Given the description of an element on the screen output the (x, y) to click on. 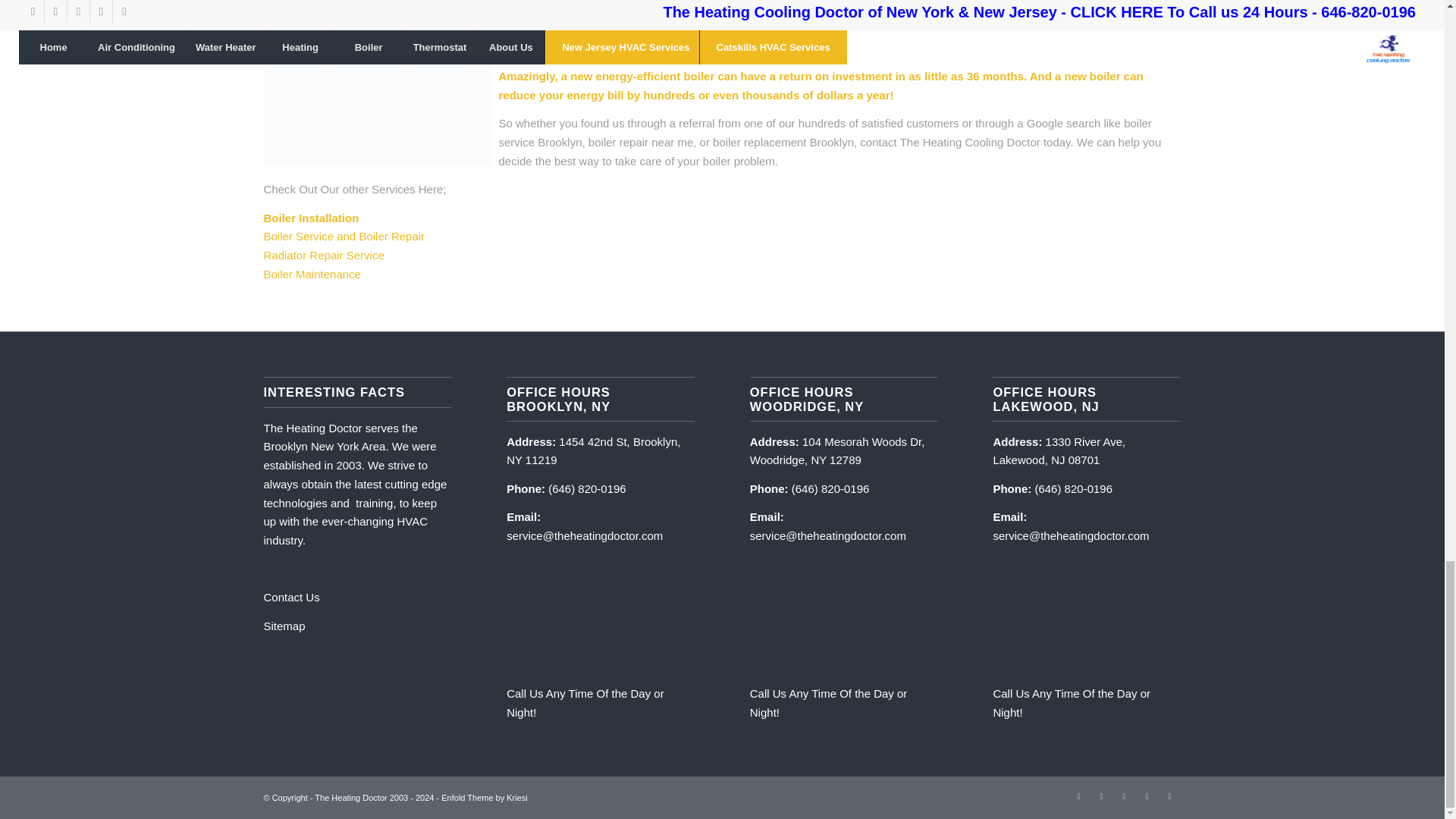
Yelp (1101, 795)
Youtube (1146, 795)
Twitter (1078, 795)
Instagram (1124, 795)
Facebook (1169, 795)
